Given the description of an element on the screen output the (x, y) to click on. 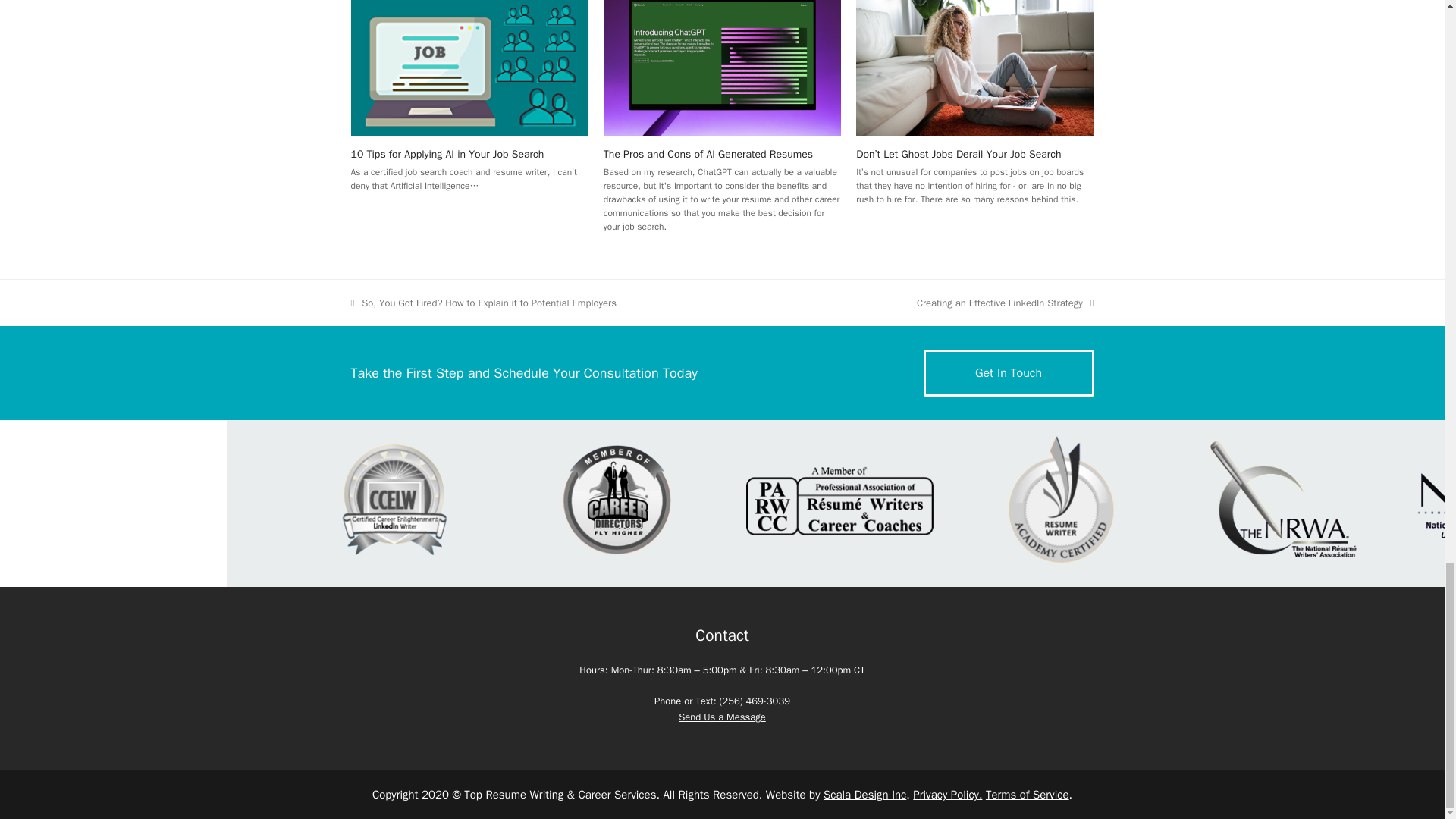
10 Tips for Applying AI in Your Job Search (1005, 302)
The Pros and Cons of AI-Generated Resumes (446, 154)
Send Us a Message (722, 55)
The Pros and Cons of AI-Generated Resumes (721, 716)
10 Tips for Applying AI in Your Job Search (708, 154)
Get In Touch (469, 55)
Scala Design Inc (1008, 372)
